Given the description of an element on the screen output the (x, y) to click on. 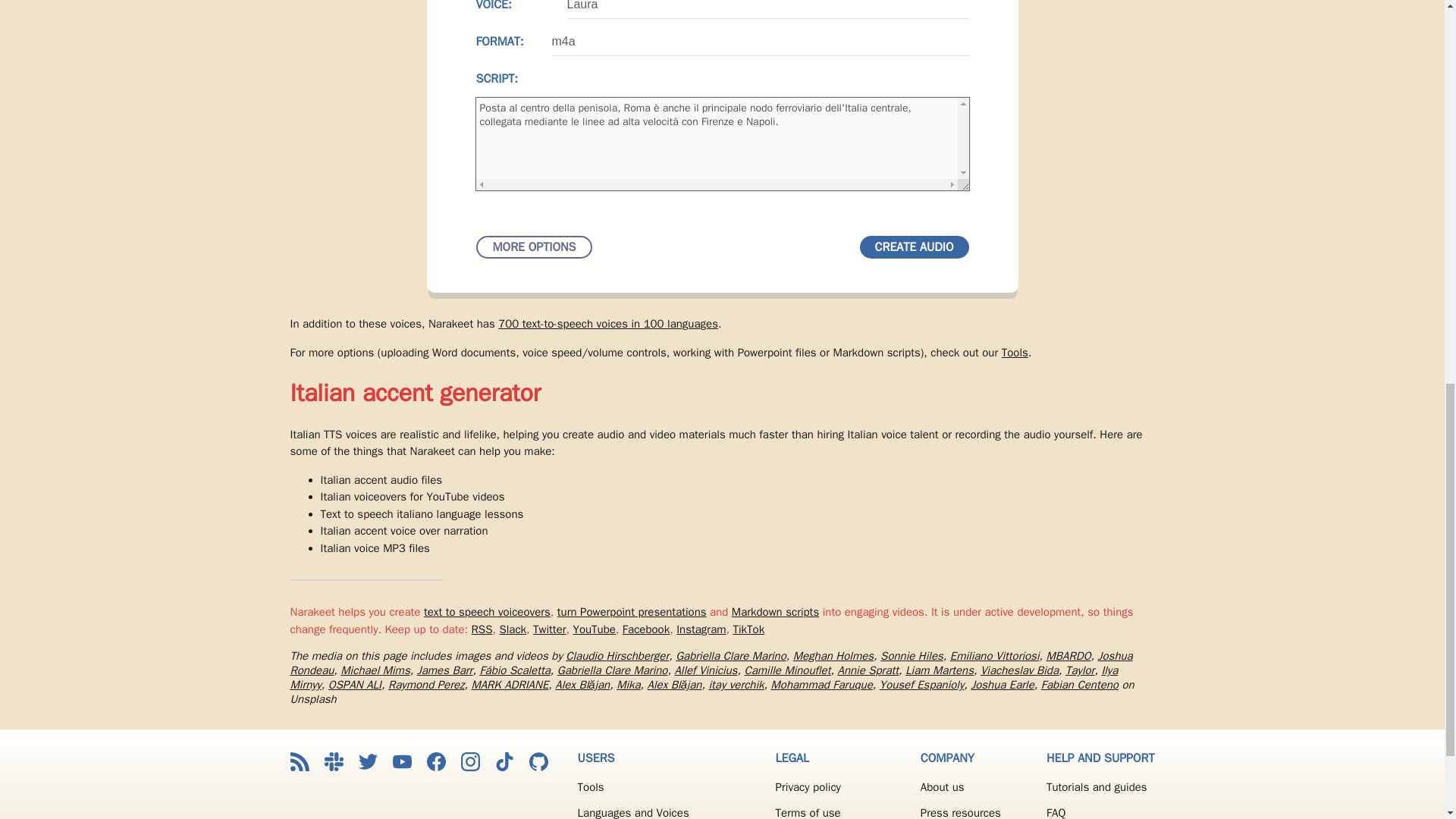
Gabriella Clare Marino (730, 655)
Slack (512, 628)
More options (534, 246)
More options (534, 246)
Instagram (701, 628)
Markdown scripts (775, 612)
Joshua Rondeau (710, 663)
James Barr (444, 670)
MBARDO (1067, 655)
Emiliano Vittoriosi (994, 655)
